Given the description of an element on the screen output the (x, y) to click on. 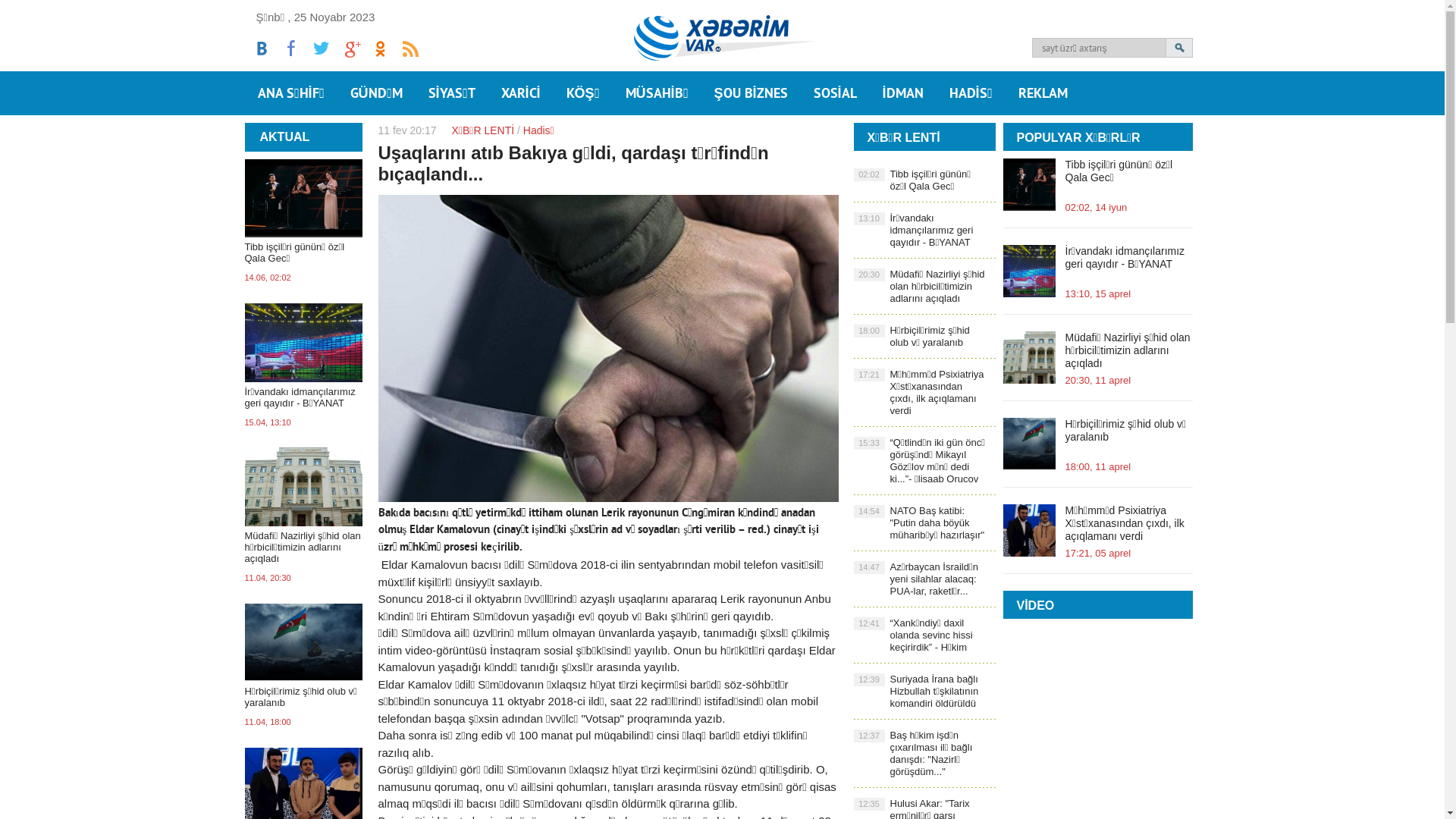
REKLAM Element type: text (1042, 93)
